Given the description of an element on the screen output the (x, y) to click on. 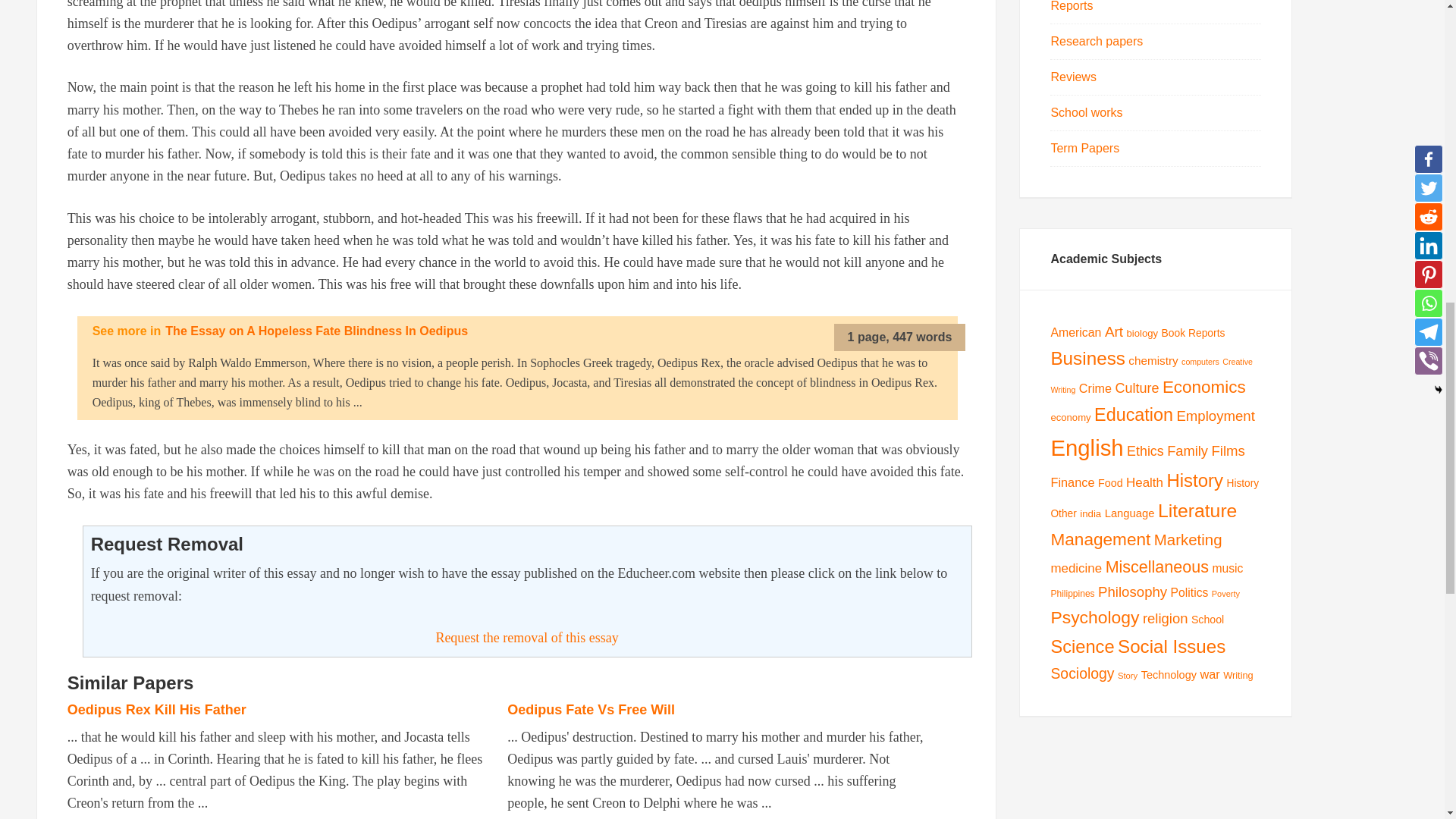
Oedipus Rex Kill His Father (156, 709)
Reviews (1072, 76)
Oedipus Fate Vs Free Will (590, 709)
Reports (1071, 6)
Term Papers (1084, 147)
Request the removal of this essay (526, 637)
School works (1085, 112)
Research papers (1095, 41)
The Essay on A Hopeless Fate Blindness In Oedipus (316, 330)
